Given the description of an element on the screen output the (x, y) to click on. 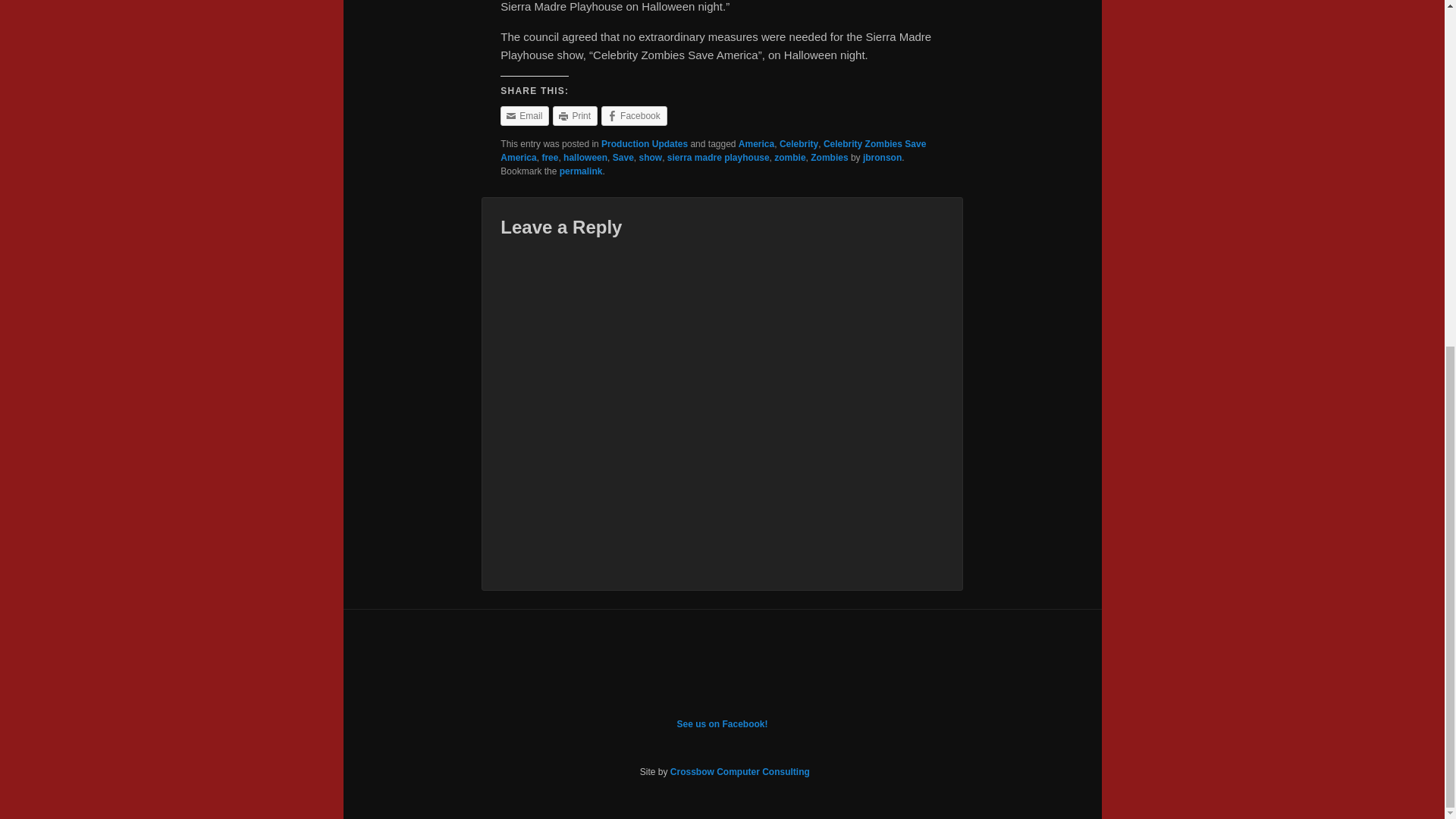
America (756, 143)
sierra madre playhouse (718, 157)
Save (622, 157)
Click to email this to a friend (524, 116)
See us on Facebook! (722, 724)
show (650, 157)
Facebook (633, 116)
Zombies (828, 157)
Print (574, 116)
Share on Facebook (633, 116)
Email (524, 116)
free (549, 157)
halloween (585, 157)
Celebrity Zombies Save America (713, 150)
